Given the description of an element on the screen output the (x, y) to click on. 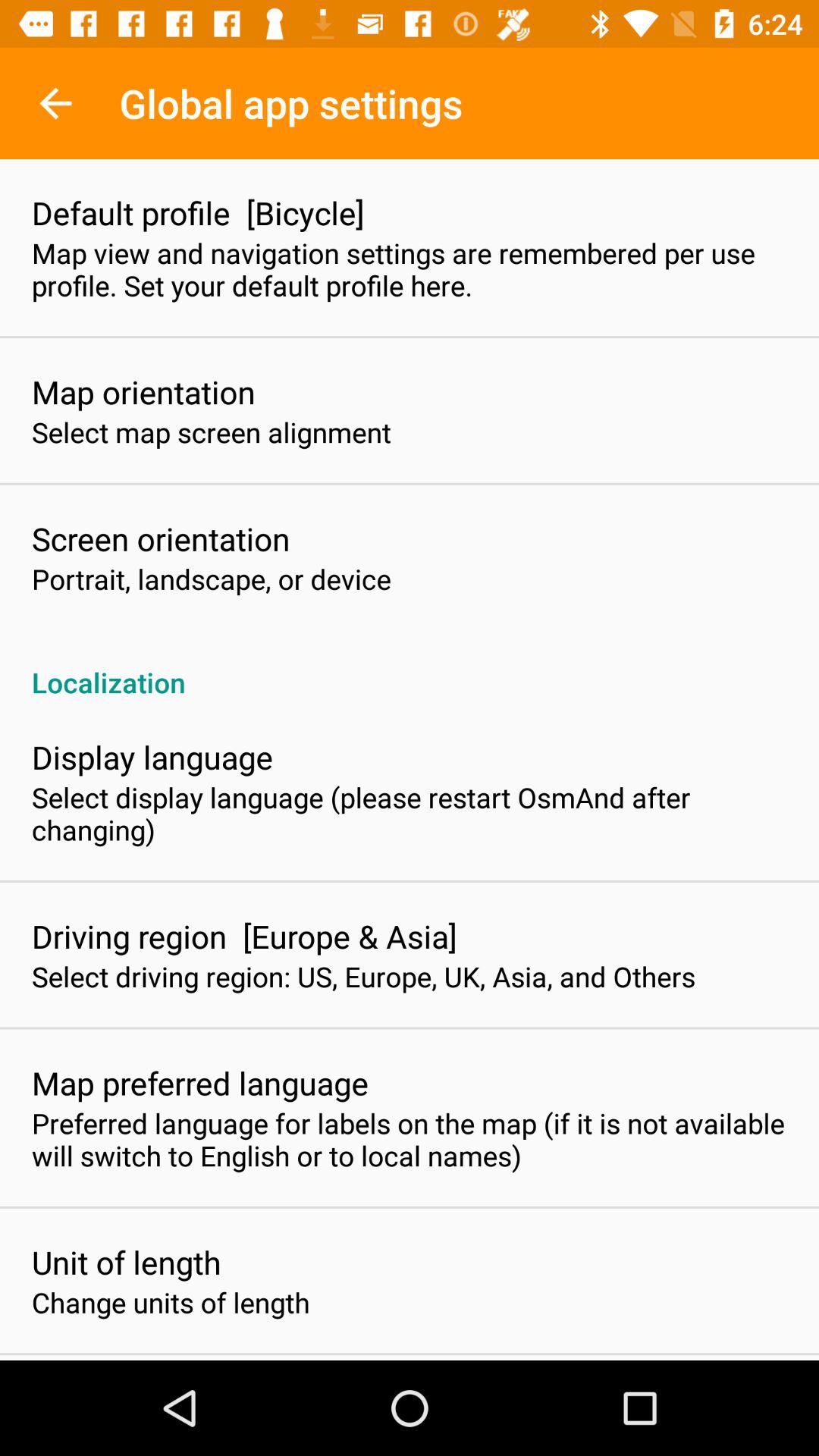
flip until the screen orientation icon (160, 538)
